Given the description of an element on the screen output the (x, y) to click on. 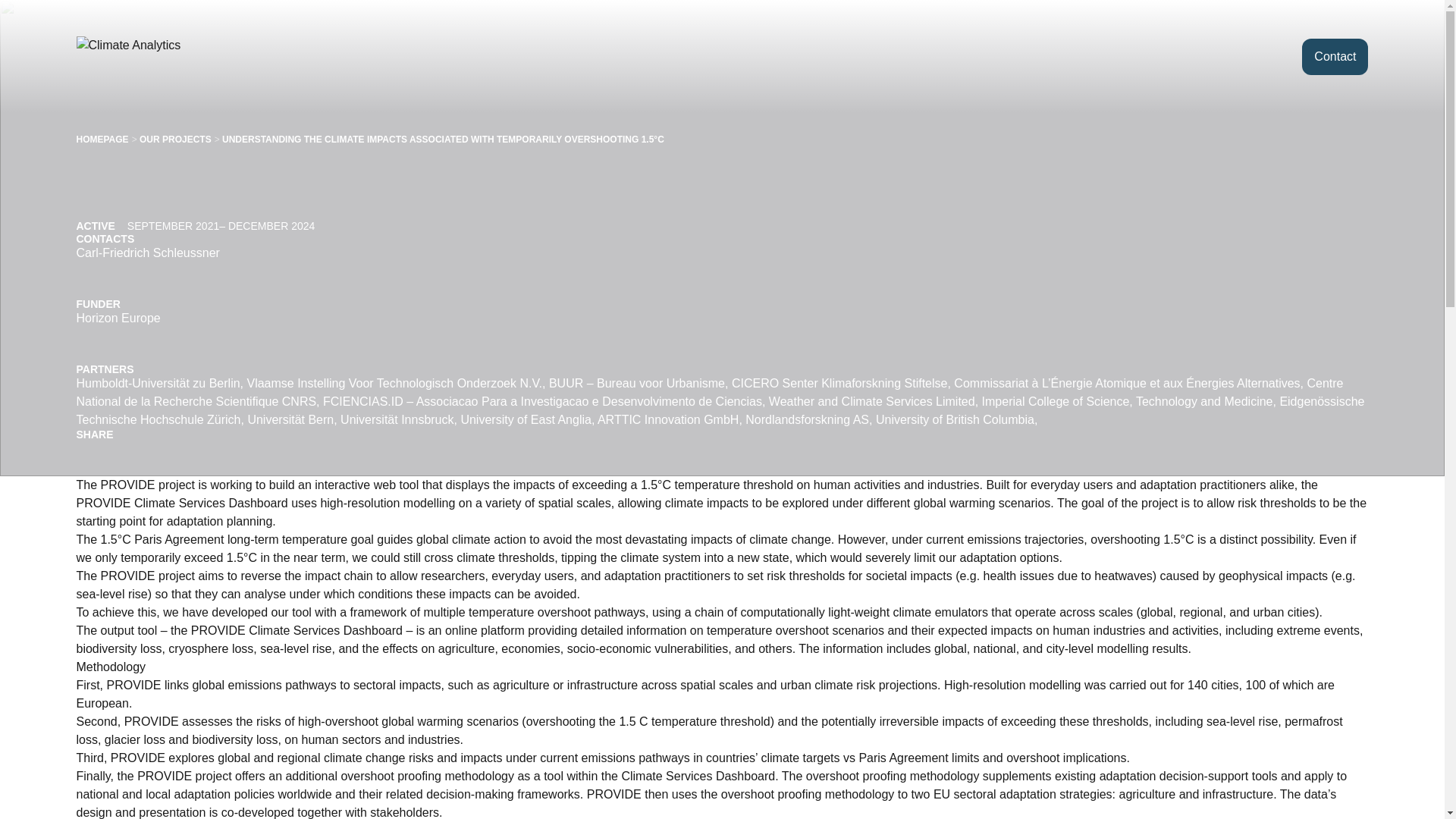
Contact (1334, 55)
Return to homepage (153, 56)
